Given the description of an element on the screen output the (x, y) to click on. 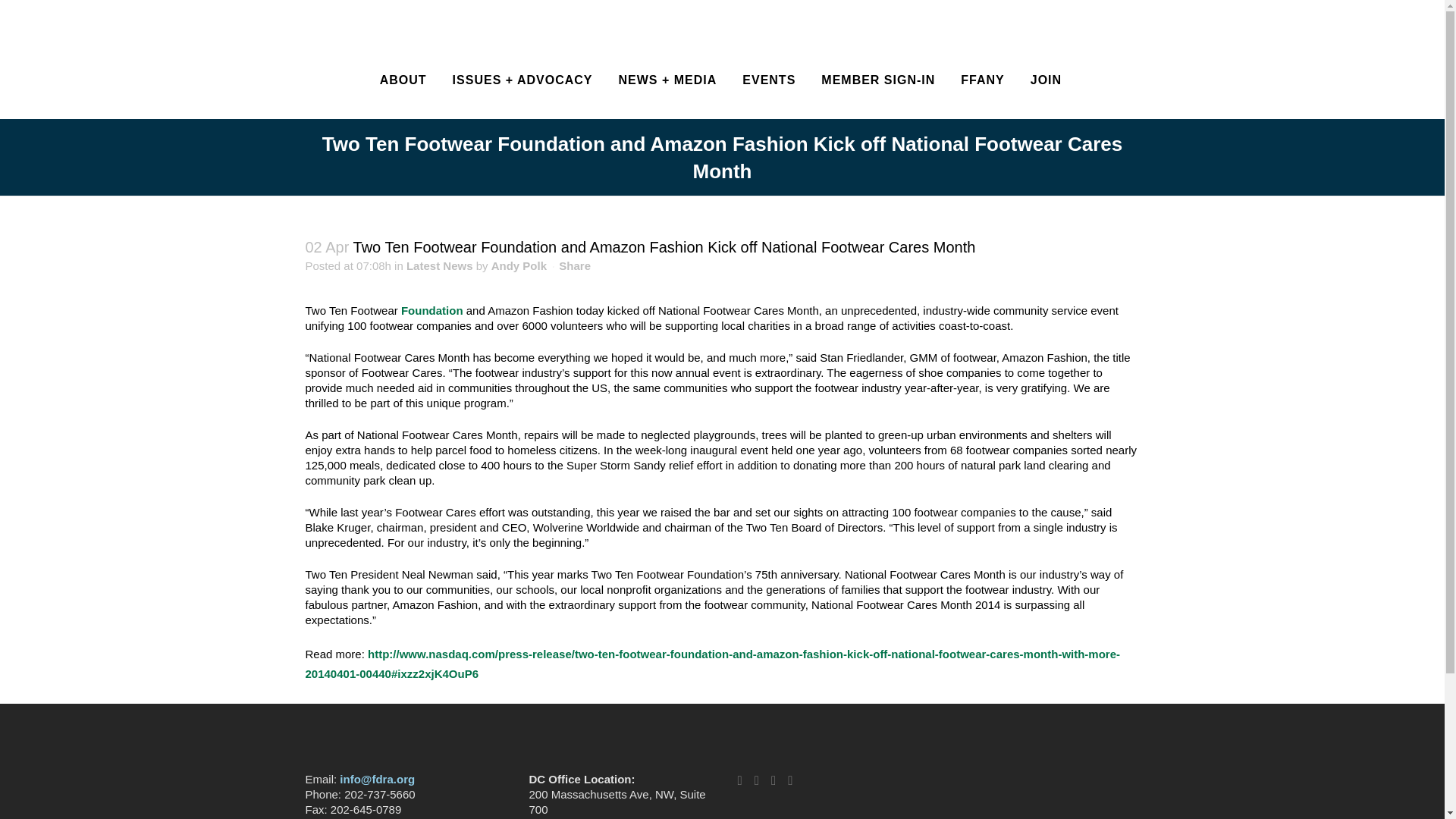
FFANY (981, 79)
MEMBER SIGN-IN (877, 79)
EVENTS (768, 79)
ABOUT (402, 79)
